Given the description of an element on the screen output the (x, y) to click on. 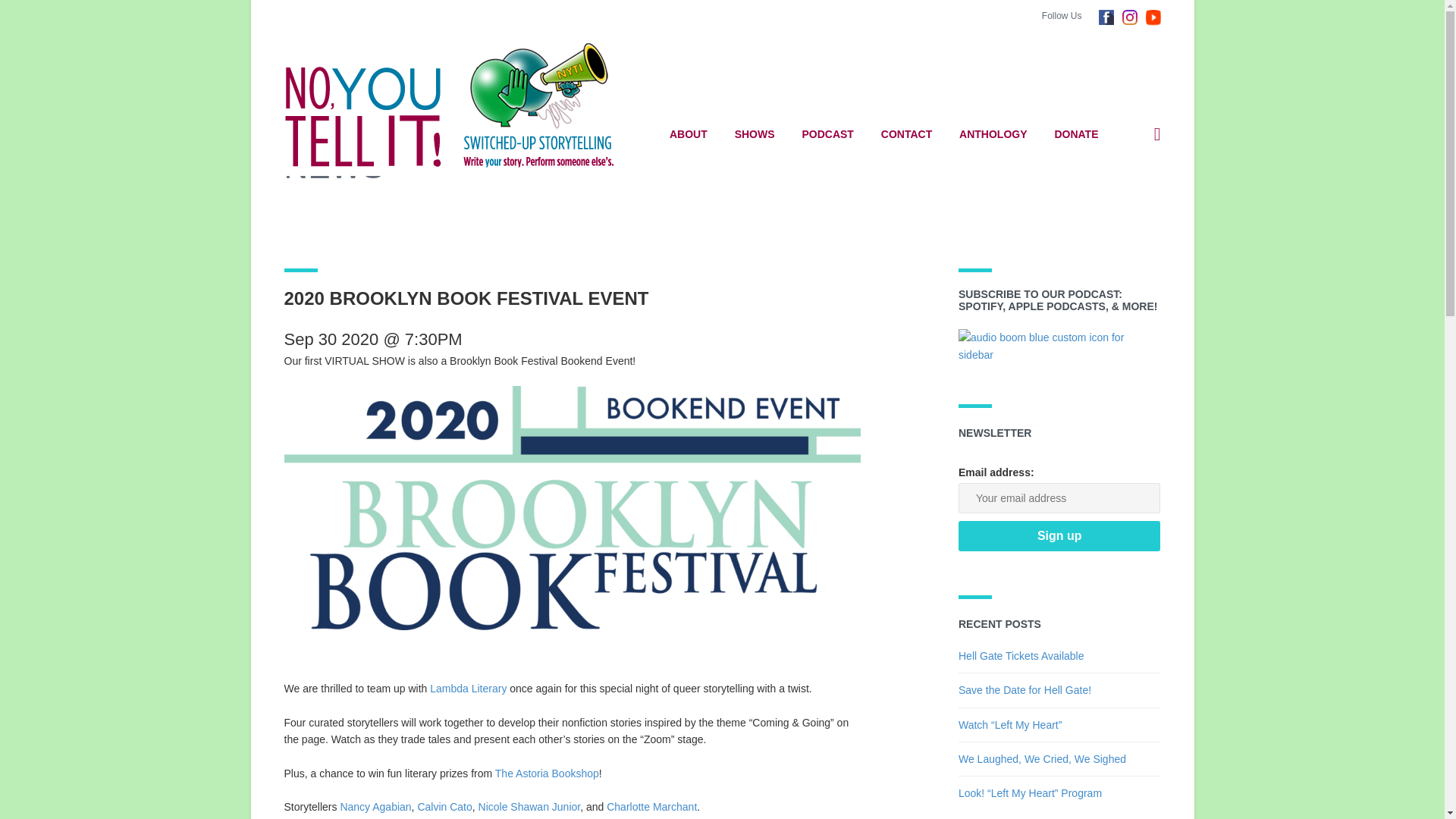
Nicole Shawan Junior (529, 806)
Calvin Cato (443, 806)
Sign up (1059, 535)
Lambda Literary (467, 688)
ANTHOLOGY (993, 134)
No, YOU Tell It! (457, 104)
Charlotte Marchant (652, 806)
Search (1096, 206)
The Astoria Bookshop (546, 773)
Nancy Agabian (374, 806)
